Given the description of an element on the screen output the (x, y) to click on. 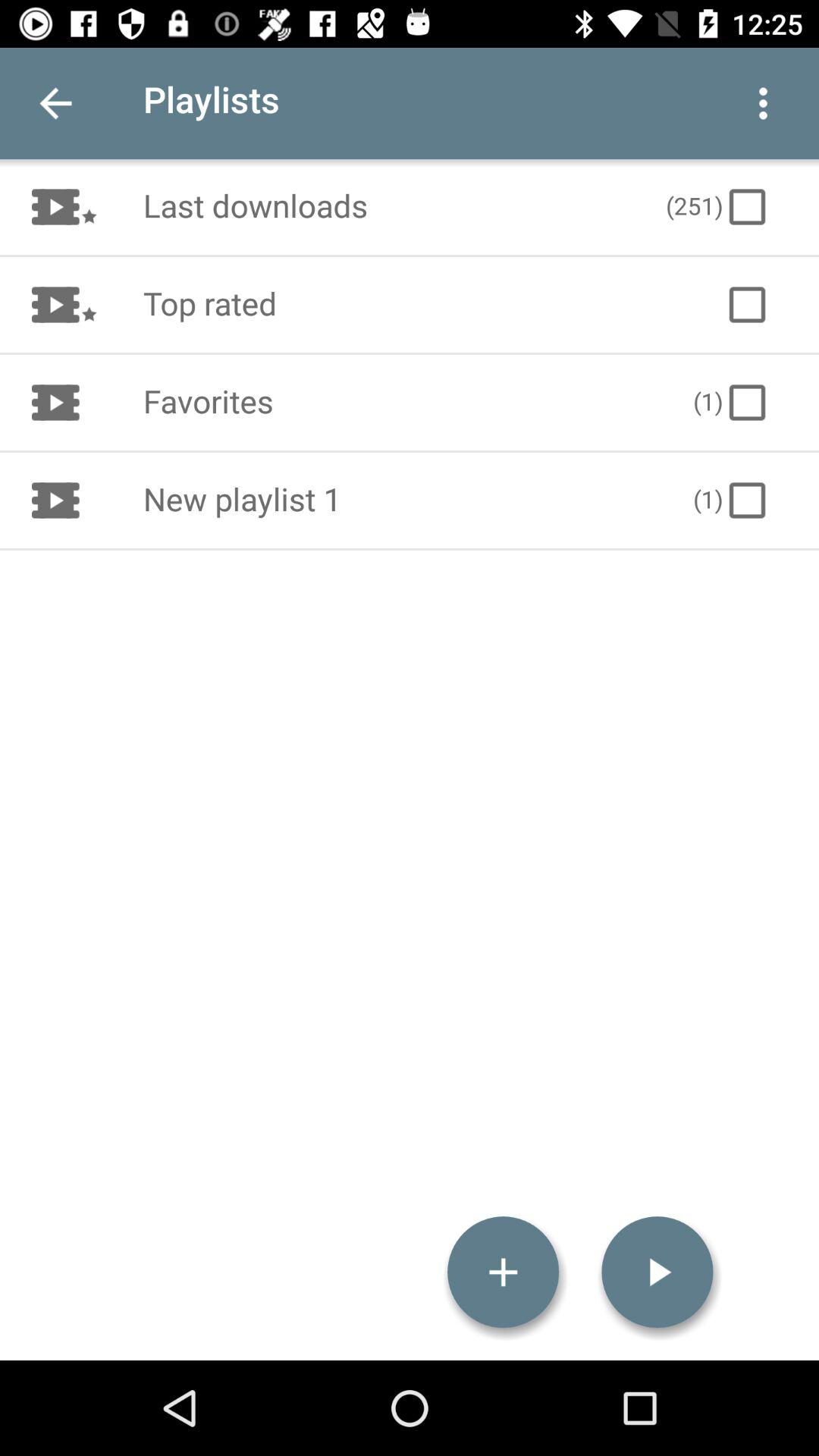
turn on item to the left of the (1) icon (402, 500)
